Given the description of an element on the screen output the (x, y) to click on. 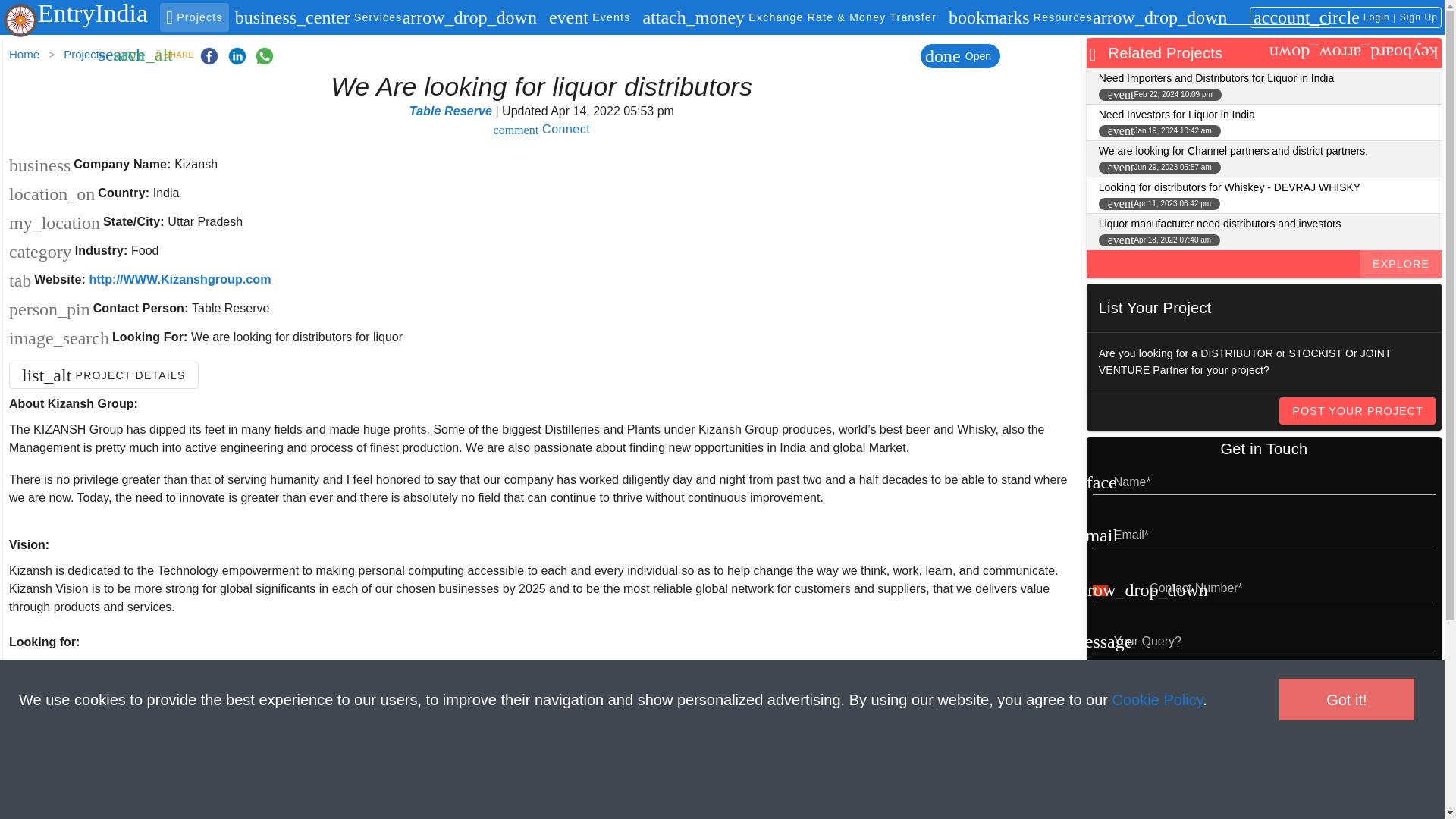
Cookie Policy (1158, 699)
Projects (542, 128)
EntryIndia (84, 54)
Table Reserve (590, 17)
Home (75, 13)
Cookie Policy (452, 110)
POST YOUR PROJECT (23, 54)
SHARE (1158, 699)
Got it! (1357, 411)
